Given the description of an element on the screen output the (x, y) to click on. 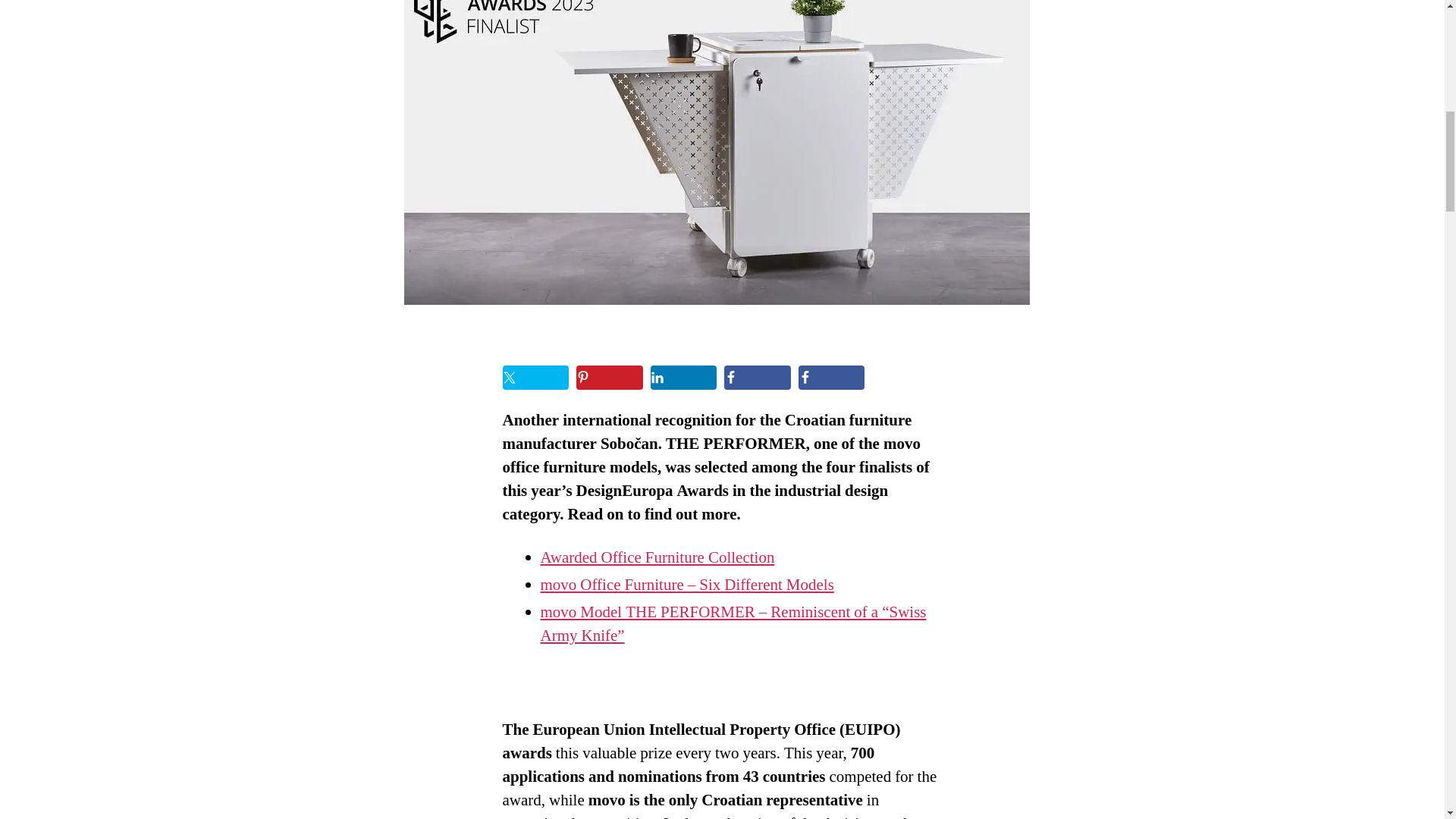
Share on Facebook (756, 377)
Share on Twitter (535, 377)
Share on Facebook (830, 377)
Share on Pinterest (609, 377)
Share on LinkedIn (683, 377)
